Given the description of an element on the screen output the (x, y) to click on. 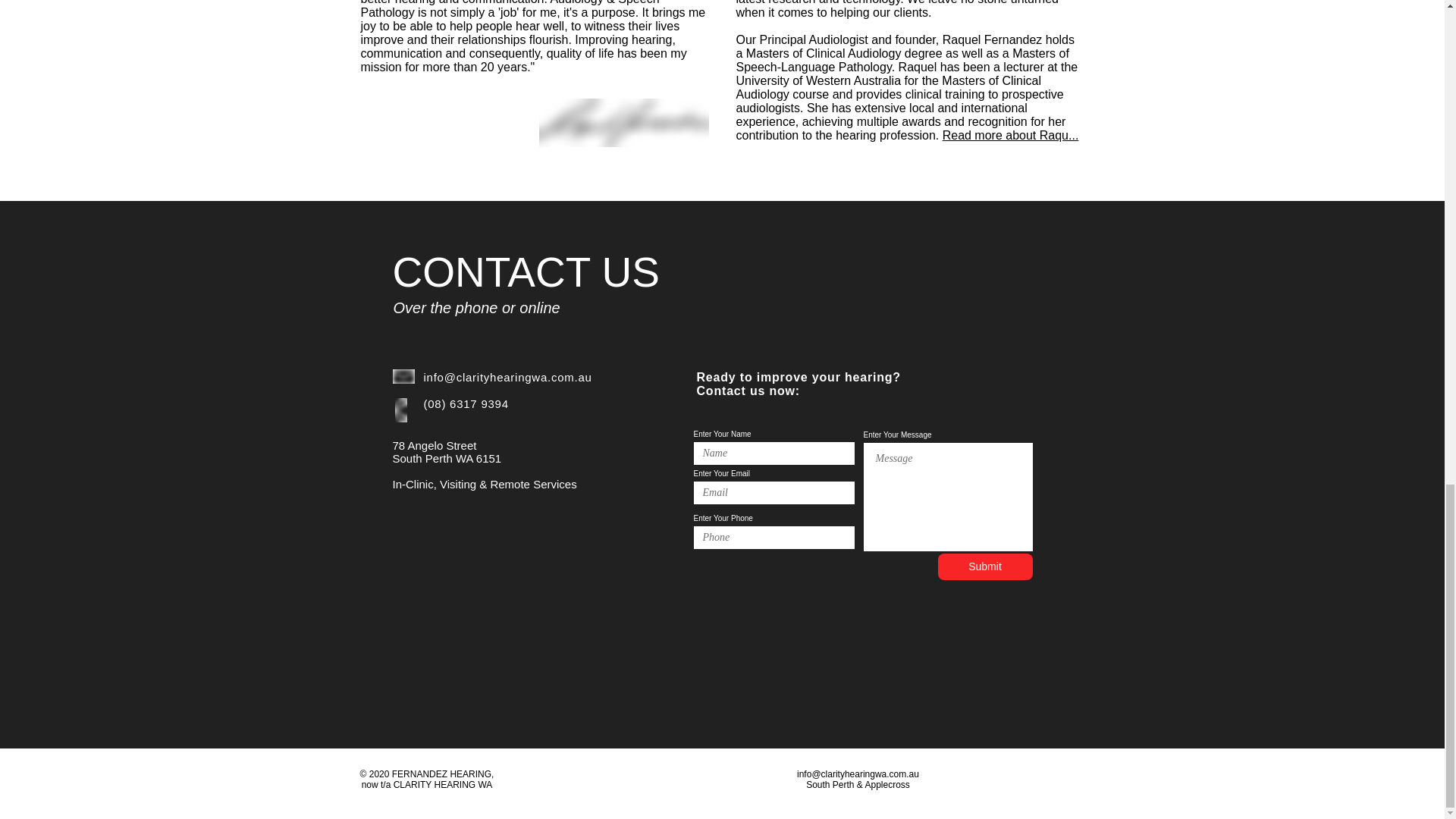
Read more about Raqu... (1010, 134)
mail.png (403, 376)
Submit (984, 566)
